Given the description of an element on the screen output the (x, y) to click on. 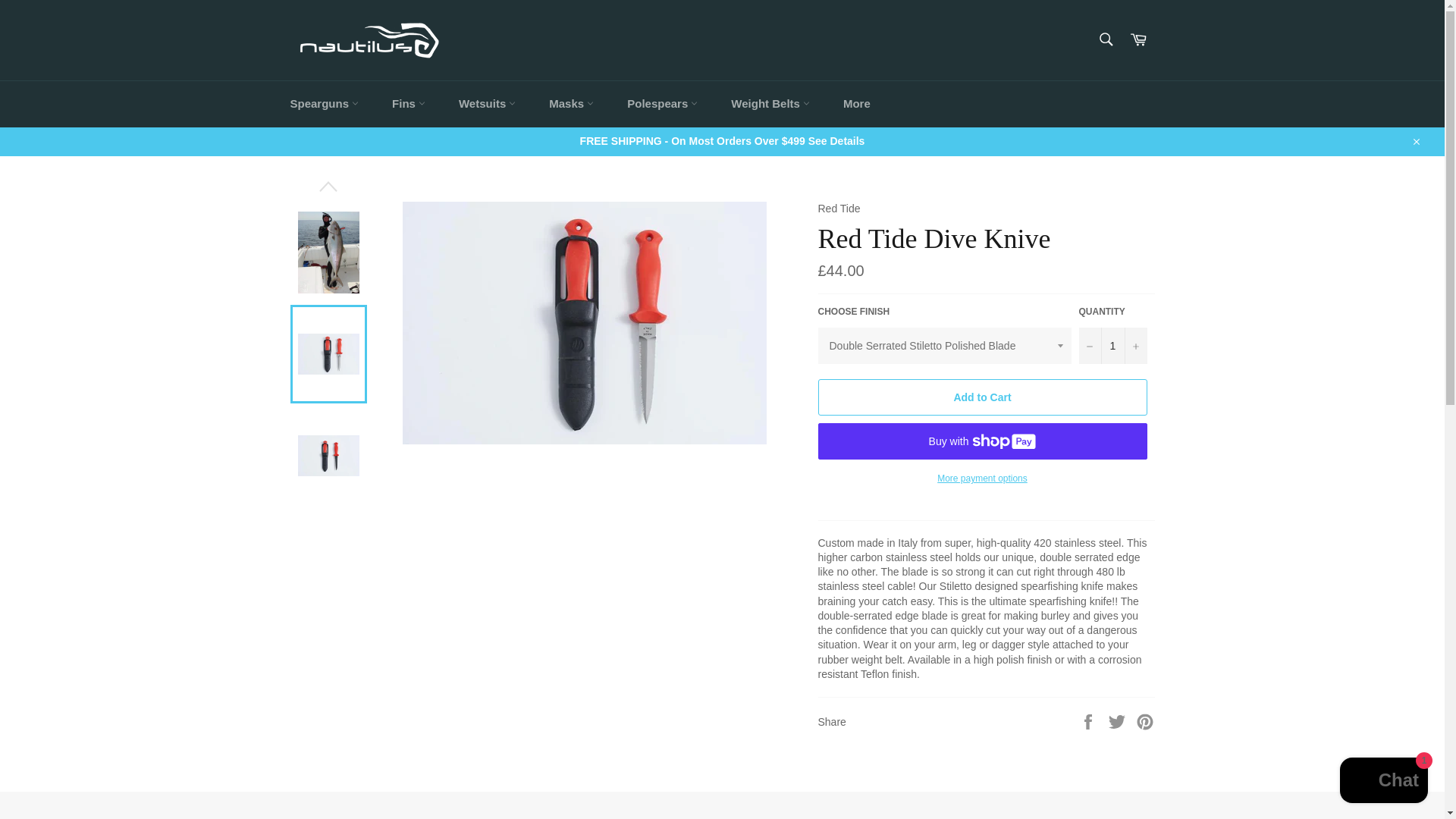
Tweet on Twitter (1118, 720)
Shopify online store chat (1383, 781)
Pin on Pinterest (1144, 720)
1 (1112, 345)
Share on Facebook (1089, 720)
